Given the description of an element on the screen output the (x, y) to click on. 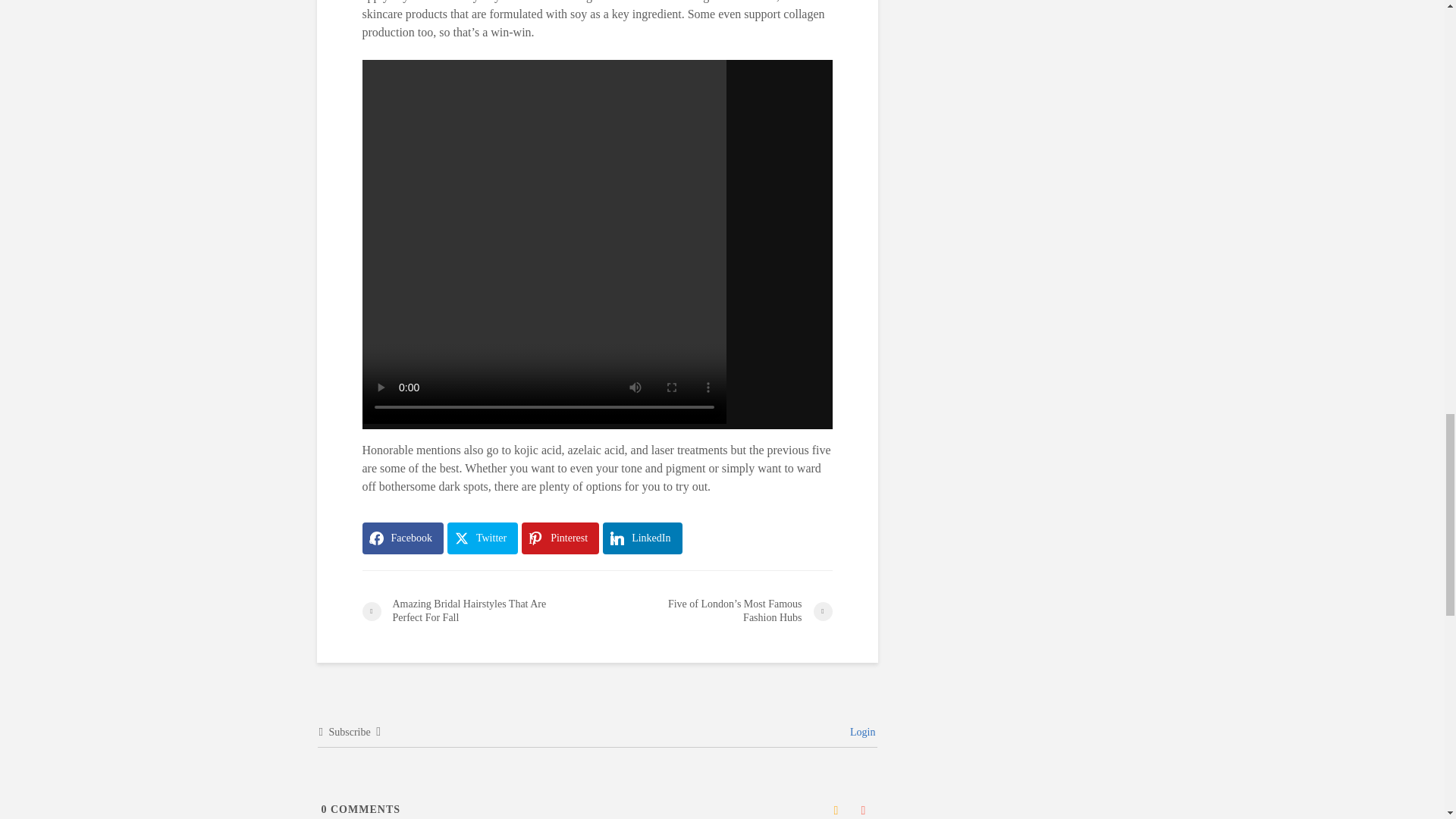
Share on Pinterest (559, 538)
Share on Twitter (482, 538)
Share on Facebook (403, 538)
Share on LinkedIn (641, 538)
